Given the description of an element on the screen output the (x, y) to click on. 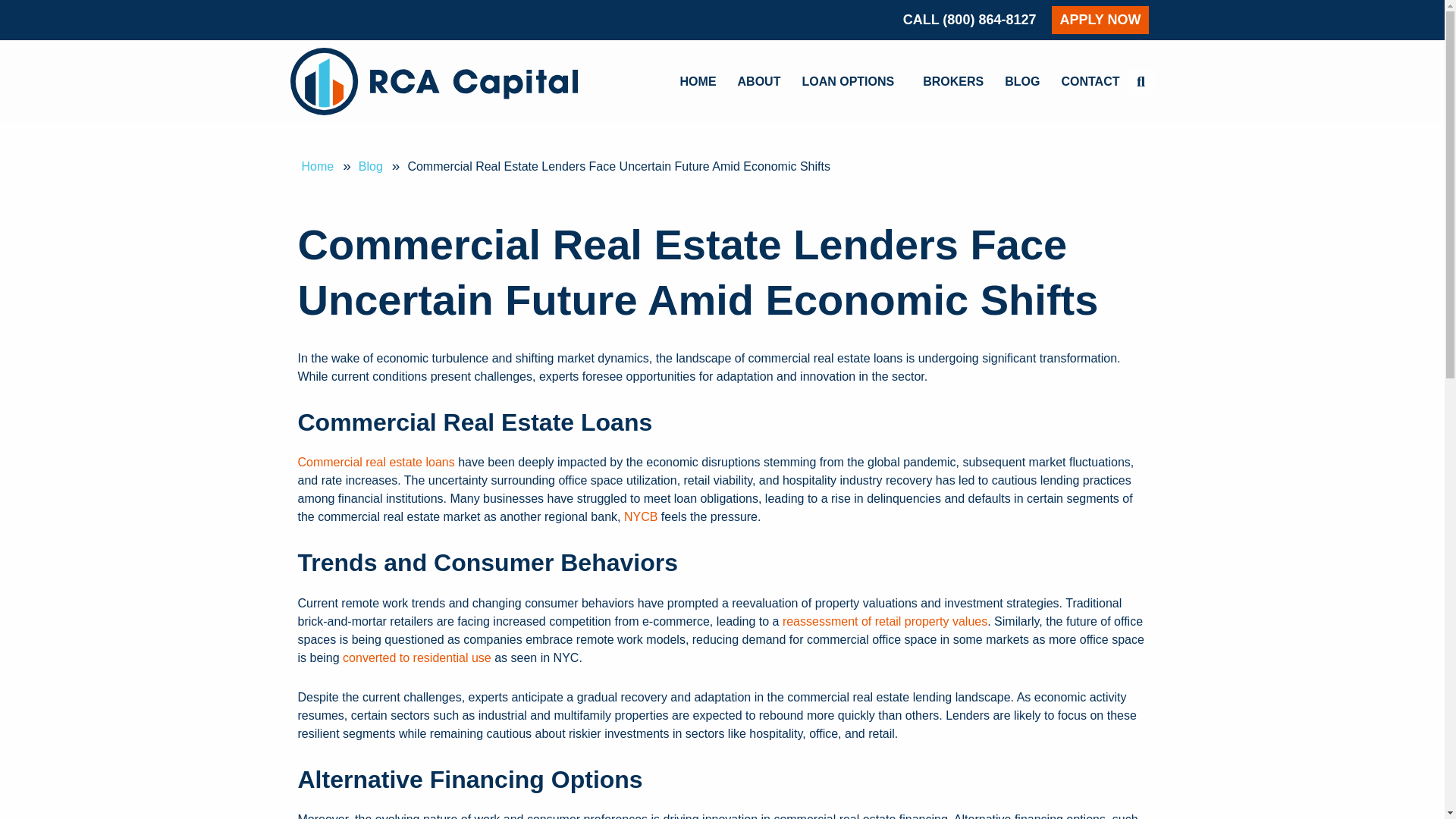
BROKERS (953, 81)
converted to residential use (417, 657)
CONTACT (1089, 81)
APPLY NOW (1099, 19)
Commercial real estate loans (375, 461)
LOAN OPTIONS (850, 81)
reassessment of retail property values (885, 621)
NYCB (641, 516)
ABOUT (759, 81)
BLOG (1021, 81)
